Given the description of an element on the screen output the (x, y) to click on. 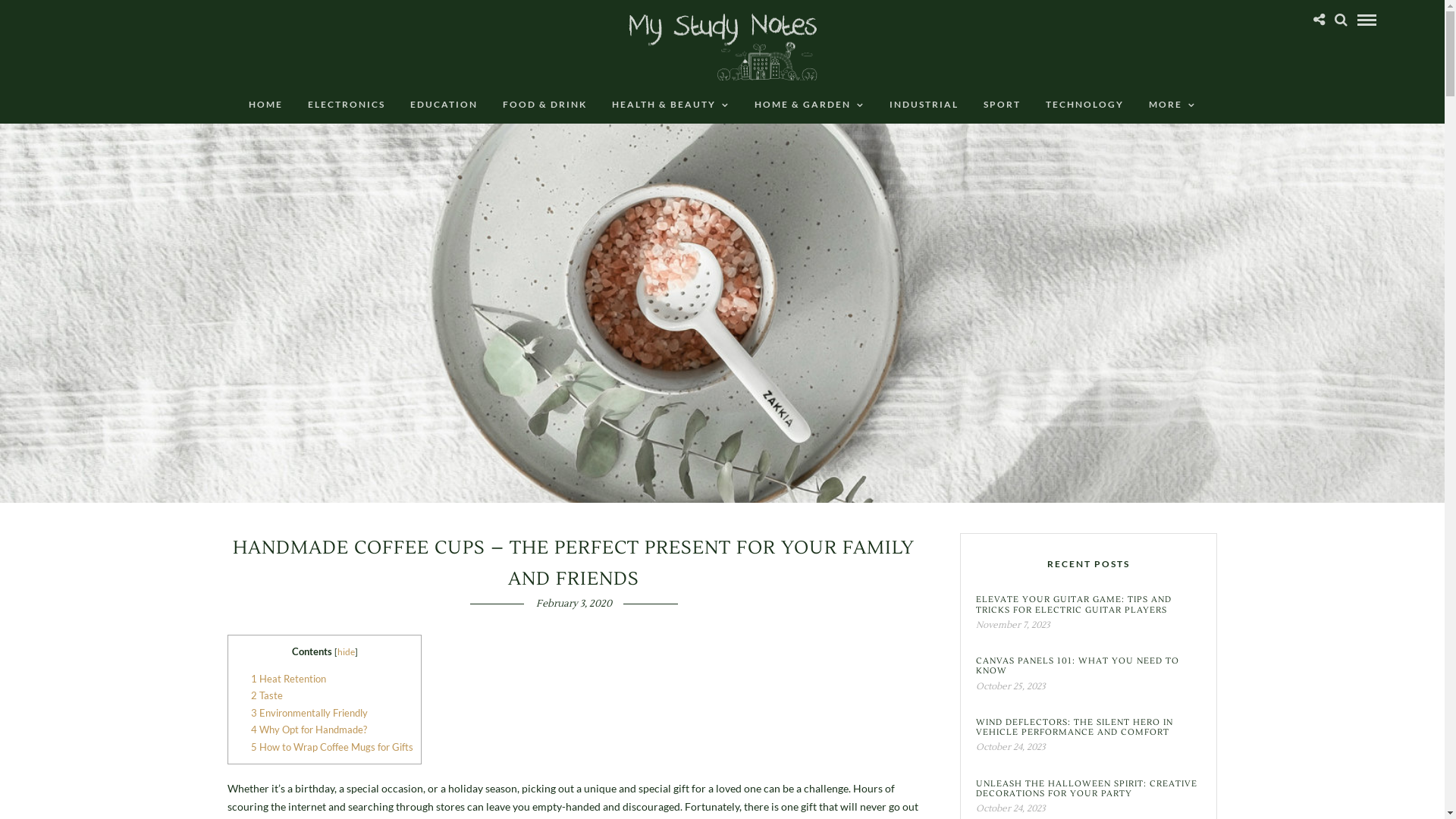
4 Why Opt for Handmade? Element type: text (309, 729)
FOOD & DRINK Element type: text (544, 104)
5 How to Wrap Coffee Mugs for Gifts Element type: text (332, 746)
ELECTRONICS Element type: text (346, 104)
MORE Element type: text (1172, 104)
CANVAS PANELS 101: WHAT YOU NEED TO KNOW Element type: text (1088, 665)
HOME & GARDEN Element type: text (809, 104)
3 Environmentally Friendly Element type: text (309, 712)
EDUCATION Element type: text (443, 104)
SPORT Element type: text (1002, 104)
HEALTH & BEAUTY Element type: text (670, 104)
INDUSTRIAL Element type: text (923, 104)
2 Taste Element type: text (266, 695)
HOME Element type: text (265, 104)
TECHNOLOGY Element type: text (1084, 104)
hide Element type: text (345, 651)
1 Heat Retention Element type: text (288, 678)
